Given the description of an element on the screen output the (x, y) to click on. 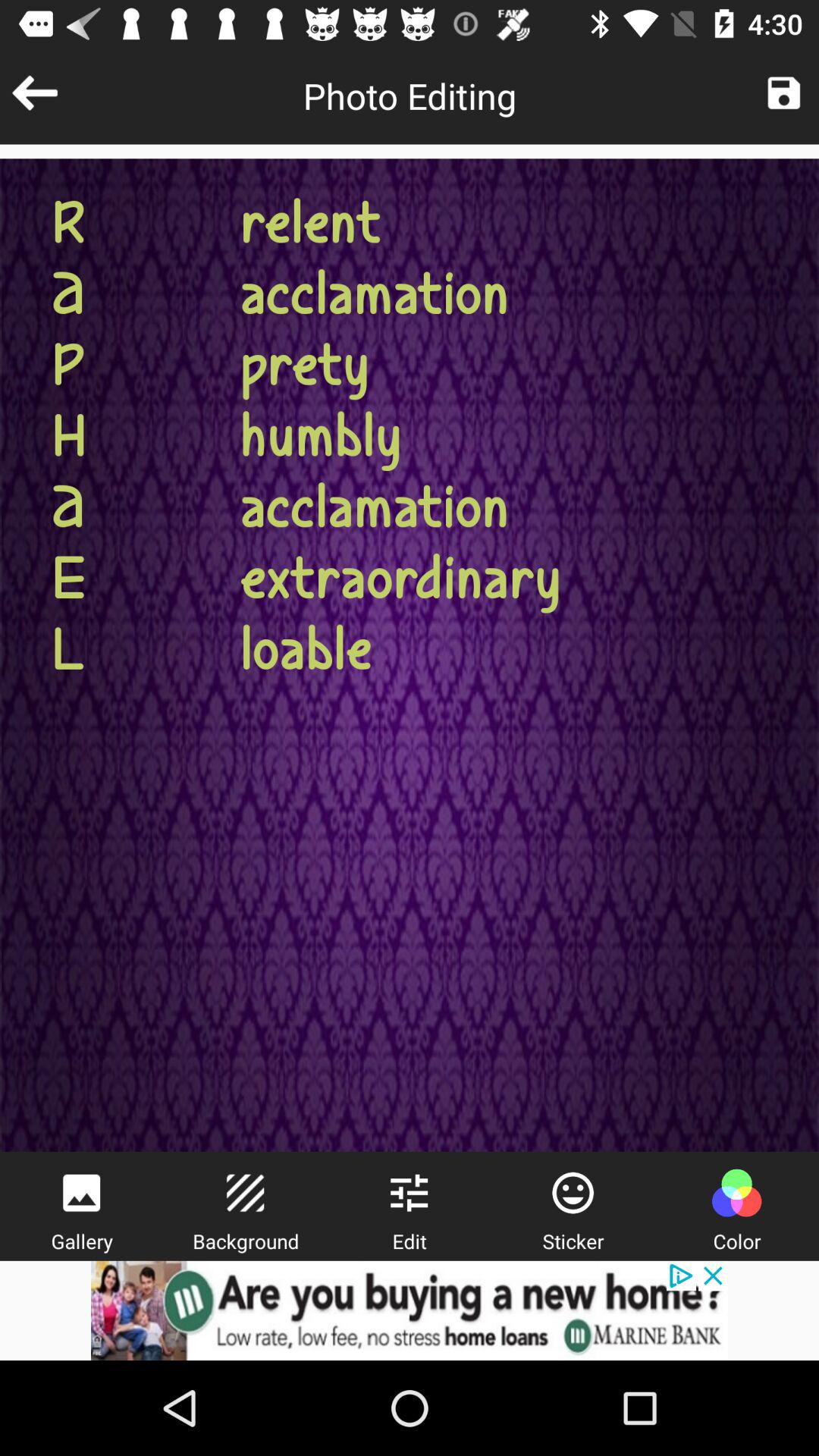
change background (245, 1192)
